Given the description of an element on the screen output the (x, y) to click on. 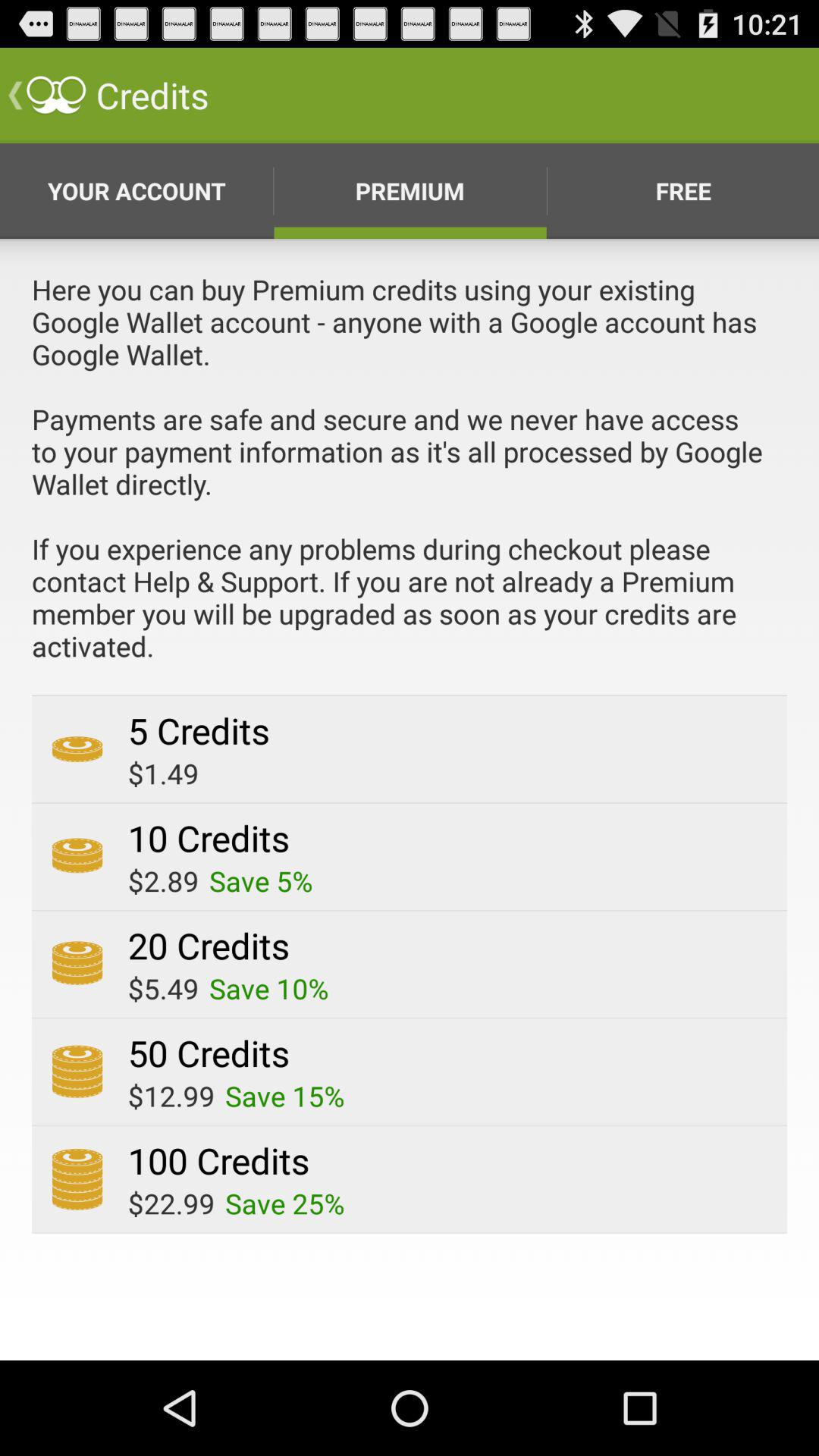
choose the save 10% icon (268, 988)
